Given the description of an element on the screen output the (x, y) to click on. 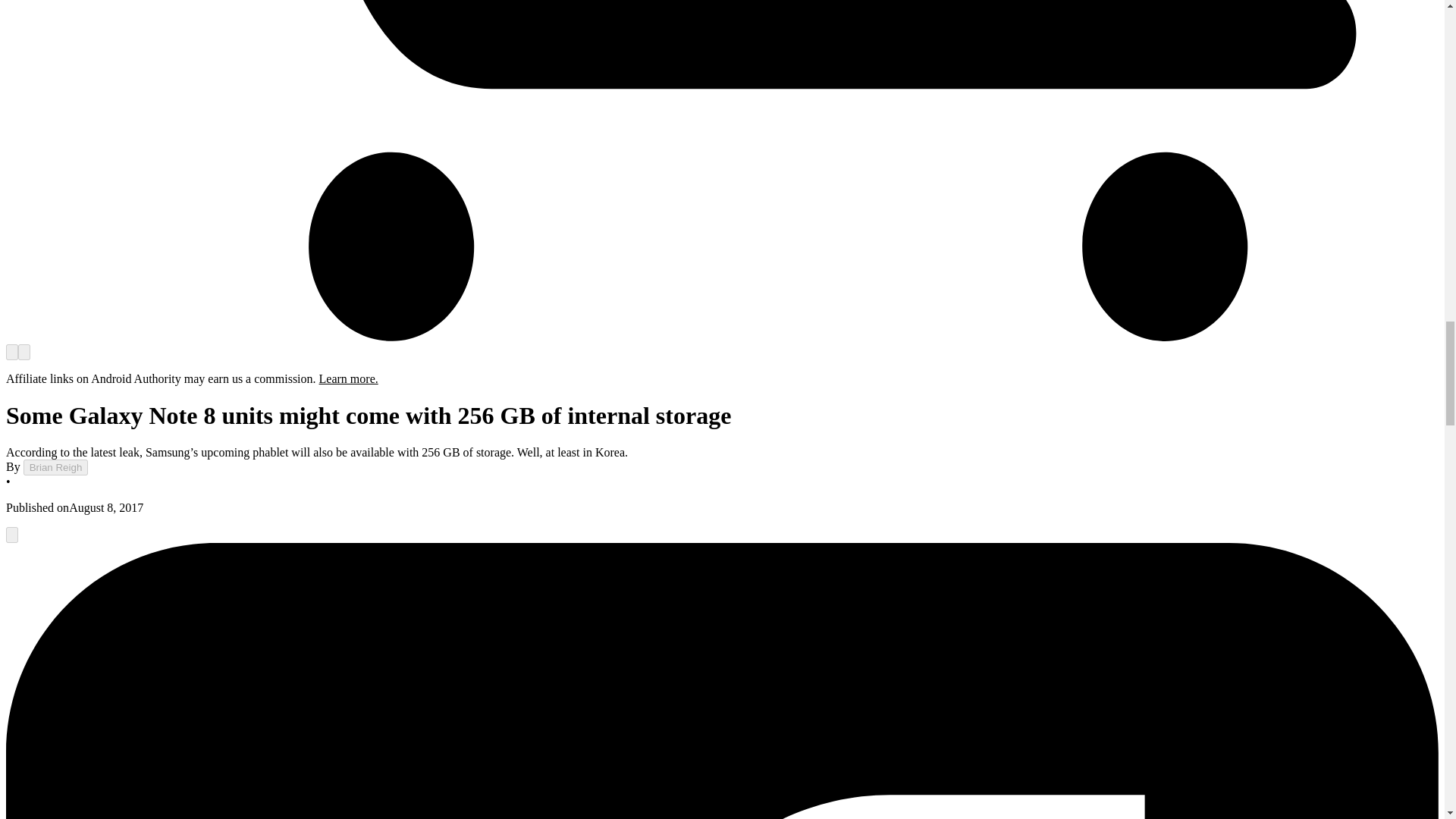
Learn more. (348, 378)
Brian Reigh (55, 467)
